Given the description of an element on the screen output the (x, y) to click on. 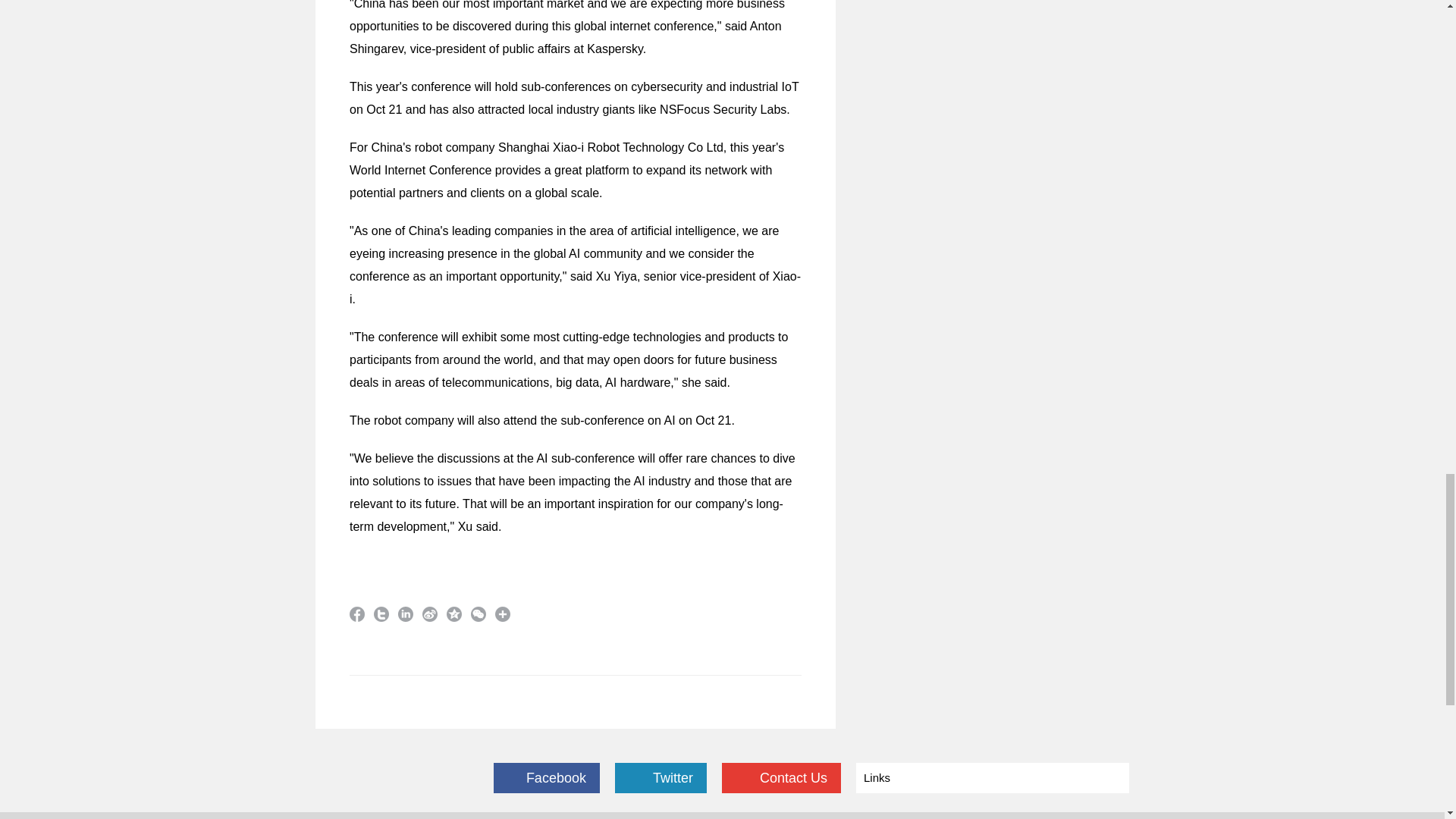
twitter (381, 613)
facebook (357, 613)
sinaminiblog (430, 613)
qzone (453, 613)
linkedin (405, 613)
weixin (478, 613)
More (503, 613)
